Given the description of an element on the screen output the (x, y) to click on. 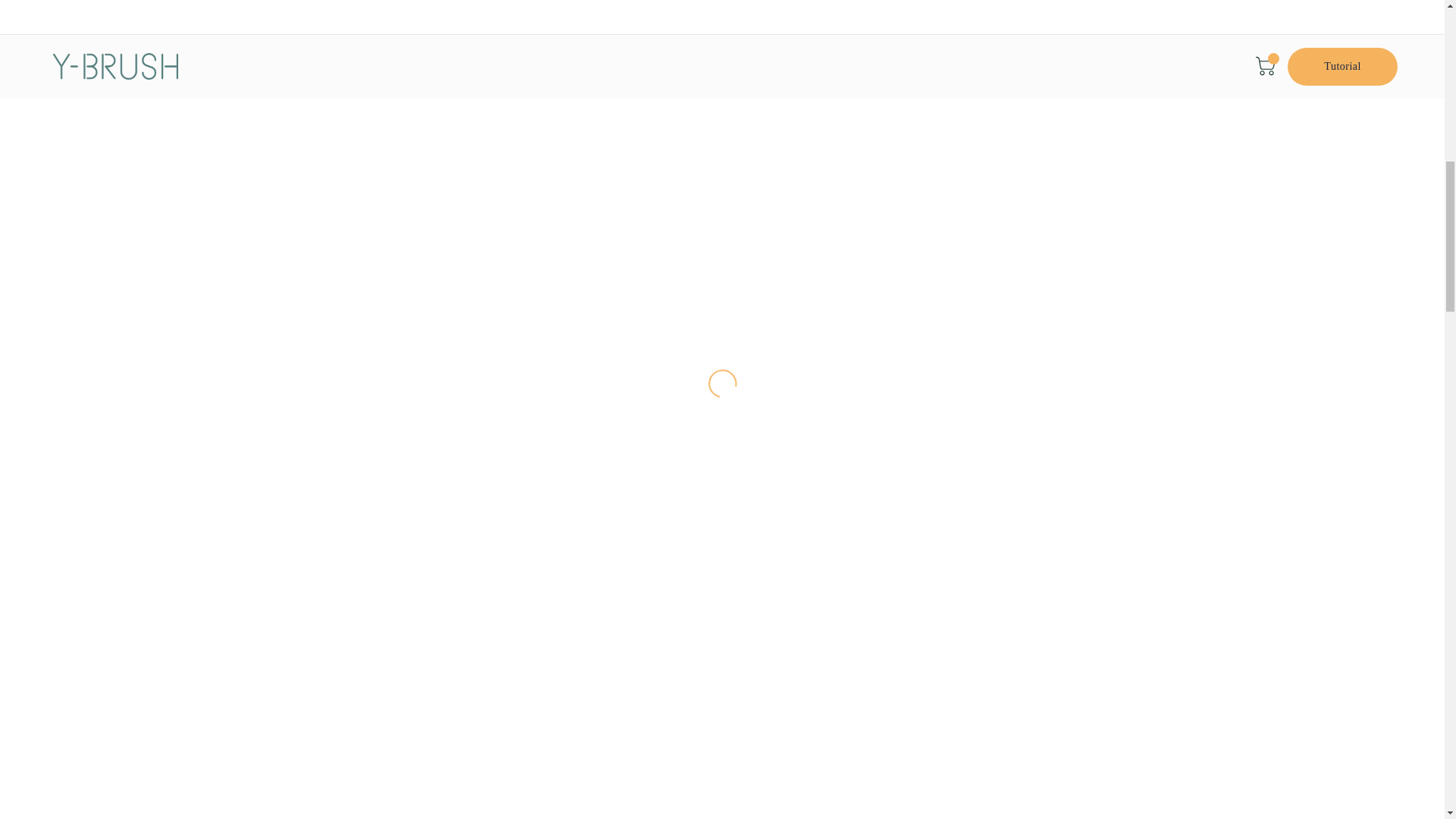
Join now (974, 158)
Dental Plaque (428, 312)
privacy policy (798, 193)
